Given the description of an element on the screen output the (x, y) to click on. 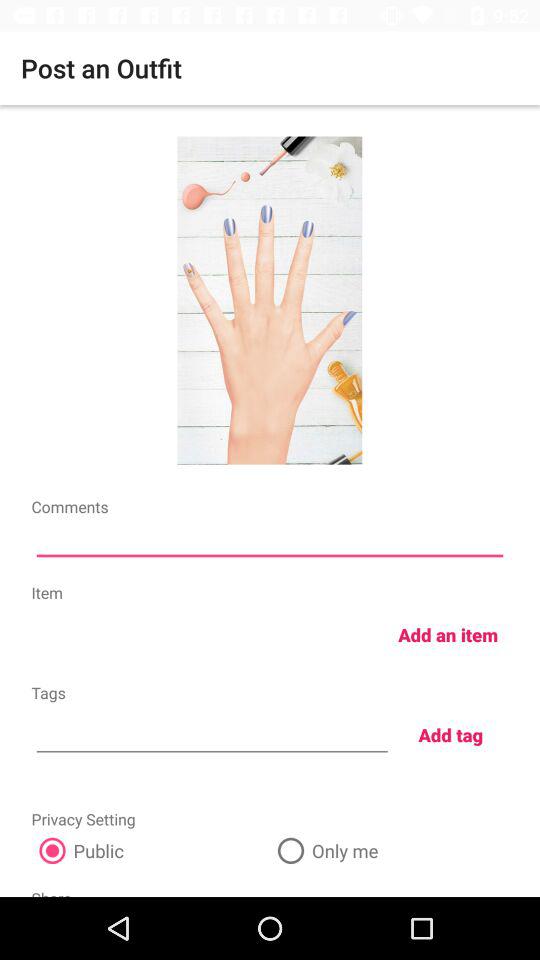
turn off only me icon (389, 850)
